Given the description of an element on the screen output the (x, y) to click on. 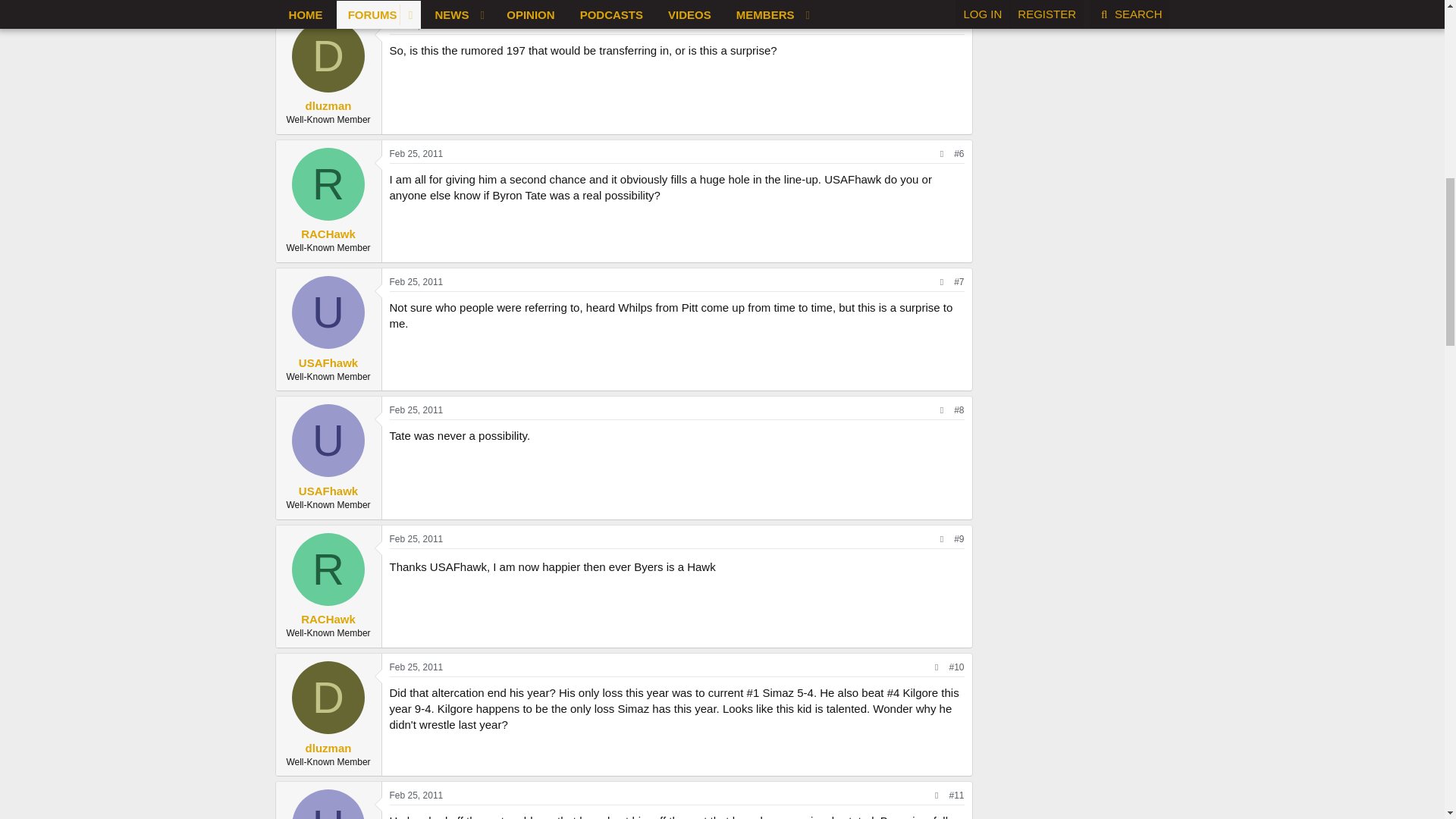
Feb 25, 2011 at 11:17 PM (417, 25)
Feb 25, 2011 at 11:19 PM (417, 281)
Feb 25, 2011 at 11:34 PM (417, 795)
Feb 25, 2011 at 11:22 PM (417, 538)
Feb 25, 2011 at 11:30 PM (417, 666)
Feb 25, 2011 at 11:19 PM (417, 409)
Feb 25, 2011 at 11:18 PM (417, 153)
